Given the description of an element on the screen output the (x, y) to click on. 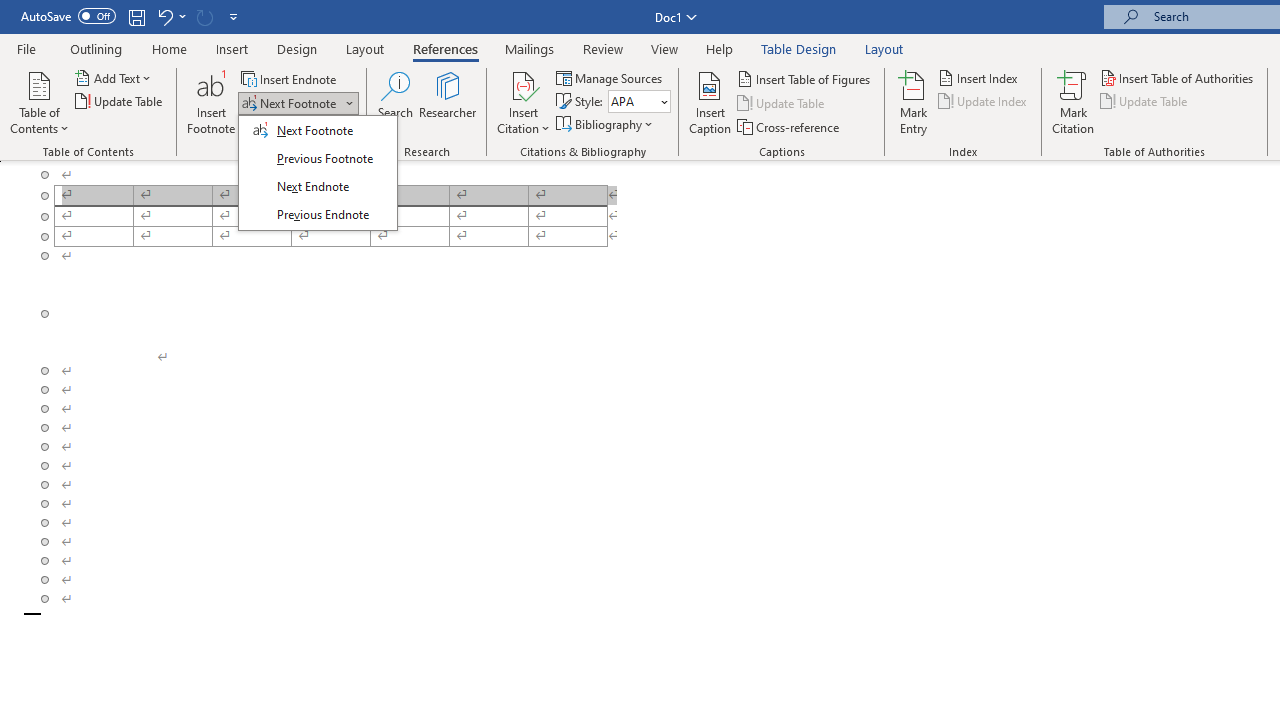
Researcher (447, 102)
Table of Contents (39, 102)
Update Table... (119, 101)
Next Footnote (290, 103)
Style (632, 101)
Mark Entry... (913, 102)
Bibliography (606, 124)
